Given the description of an element on the screen output the (x, y) to click on. 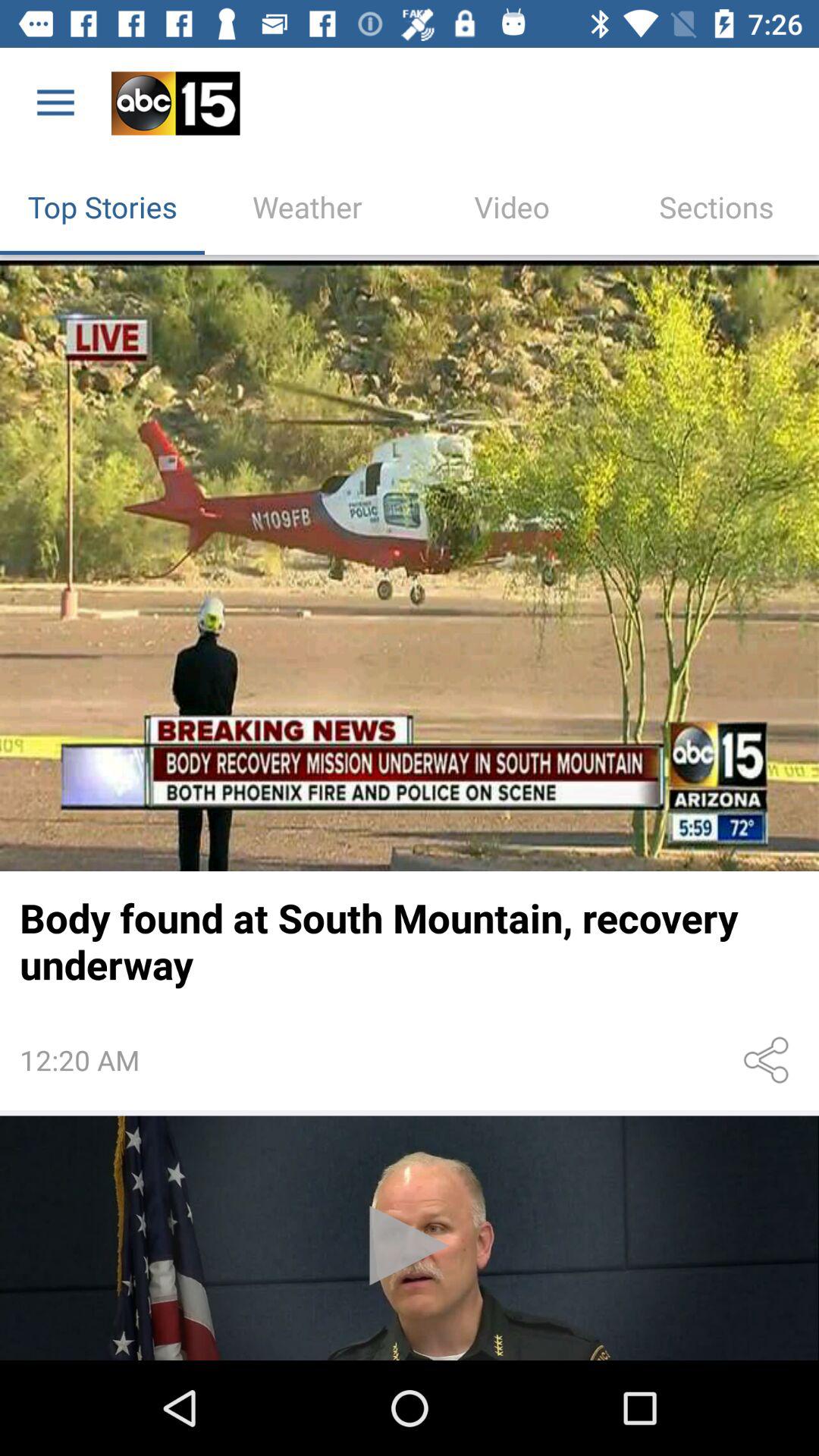
share the news story (769, 1060)
